Given the description of an element on the screen output the (x, y) to click on. 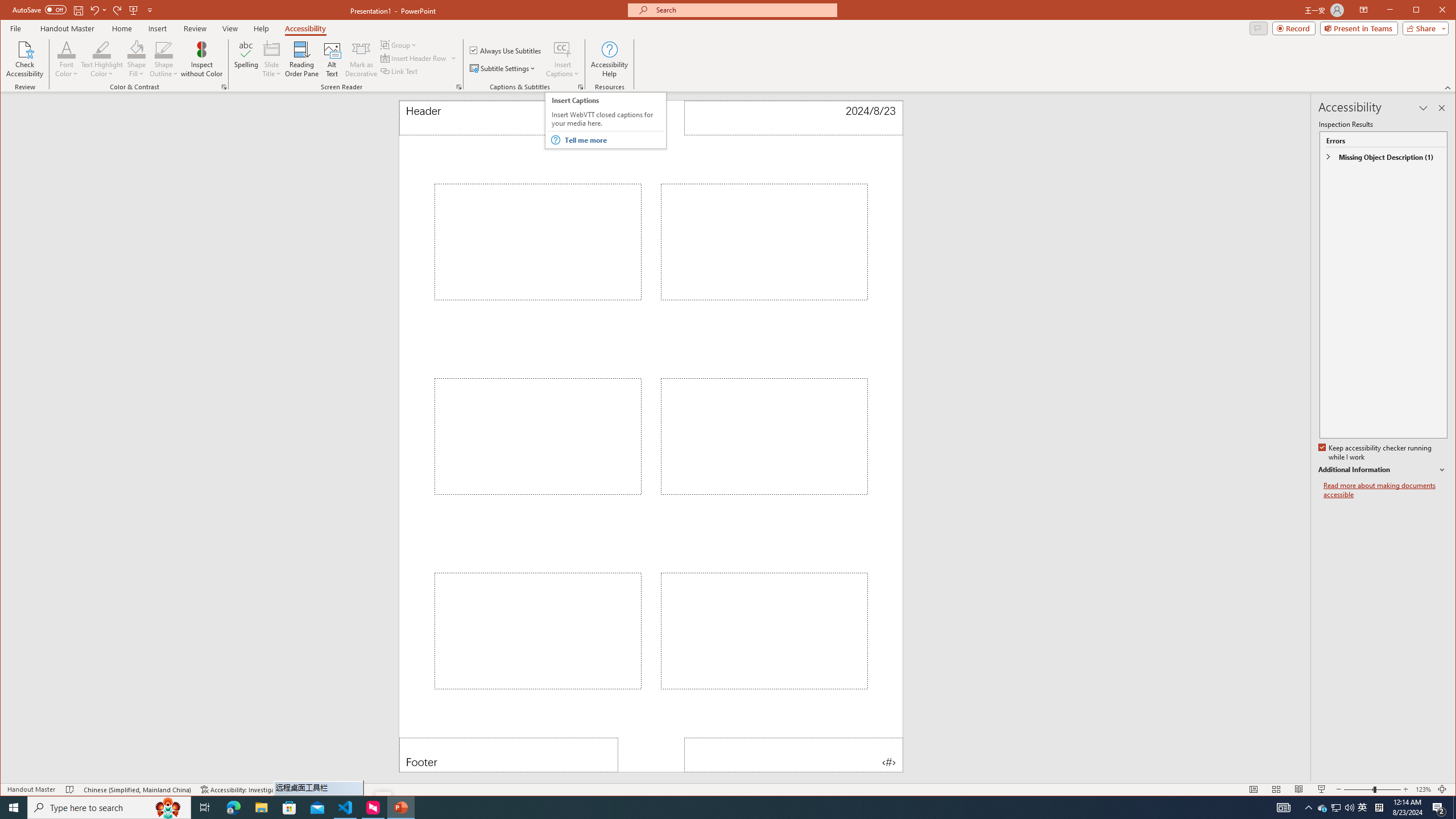
Inspect without Color (201, 59)
Insert Header Row (413, 57)
Alt Text (331, 59)
